Given the description of an element on the screen output the (x, y) to click on. 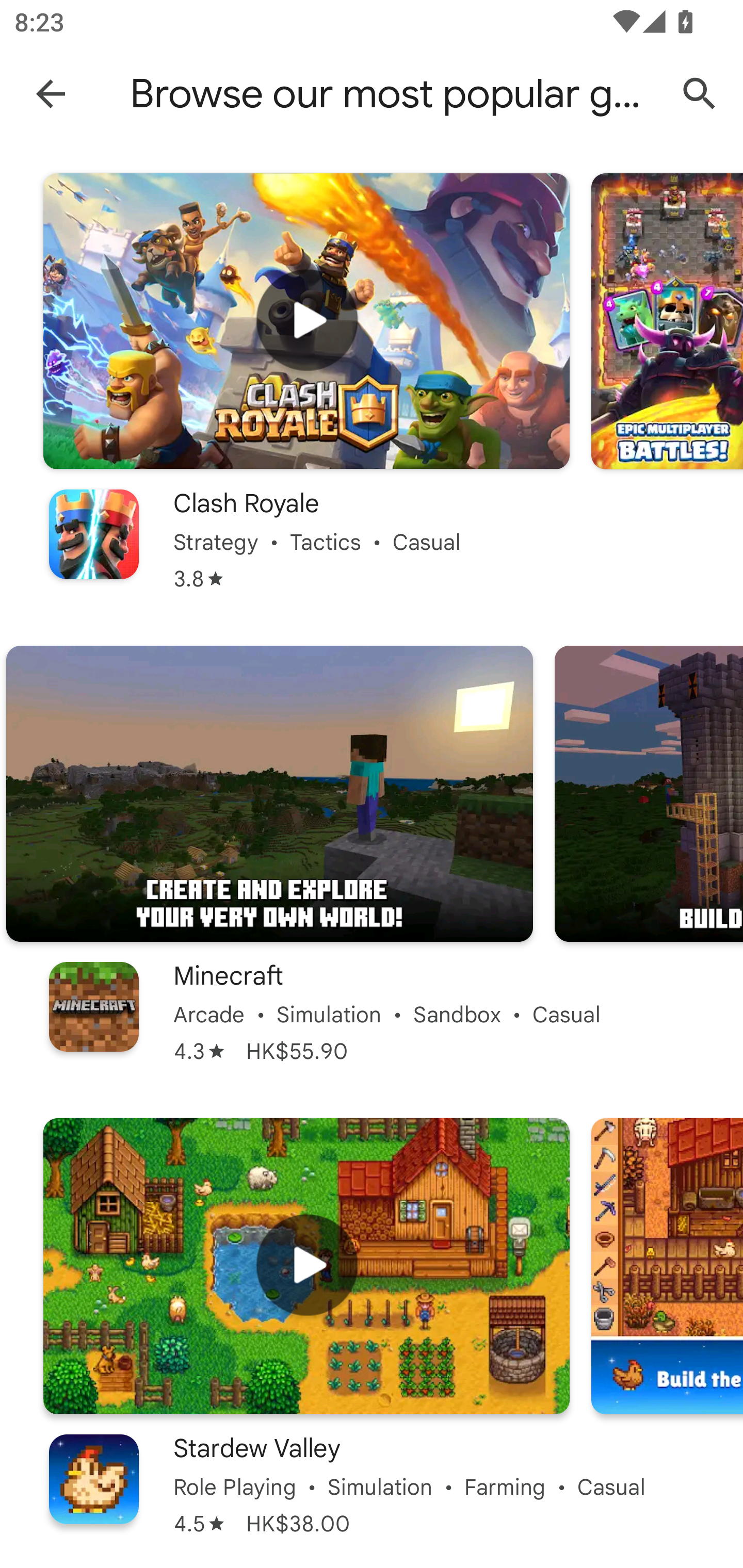
Navigate up (50, 92)
Search Google Play (699, 93)
Play trailer for "Clash Royale" (306, 321)
Screenshot "1" of "8" (268, 794)
Play trailer for "Stardew Valley" (306, 1265)
